Given the description of an element on the screen output the (x, y) to click on. 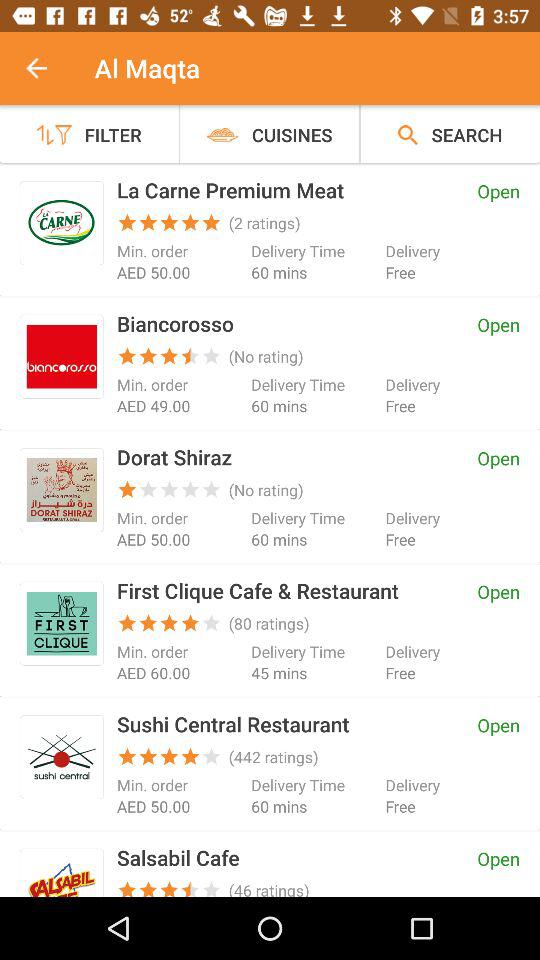
launch the item next to the al maqta item (47, 68)
